Given the description of an element on the screen output the (x, y) to click on. 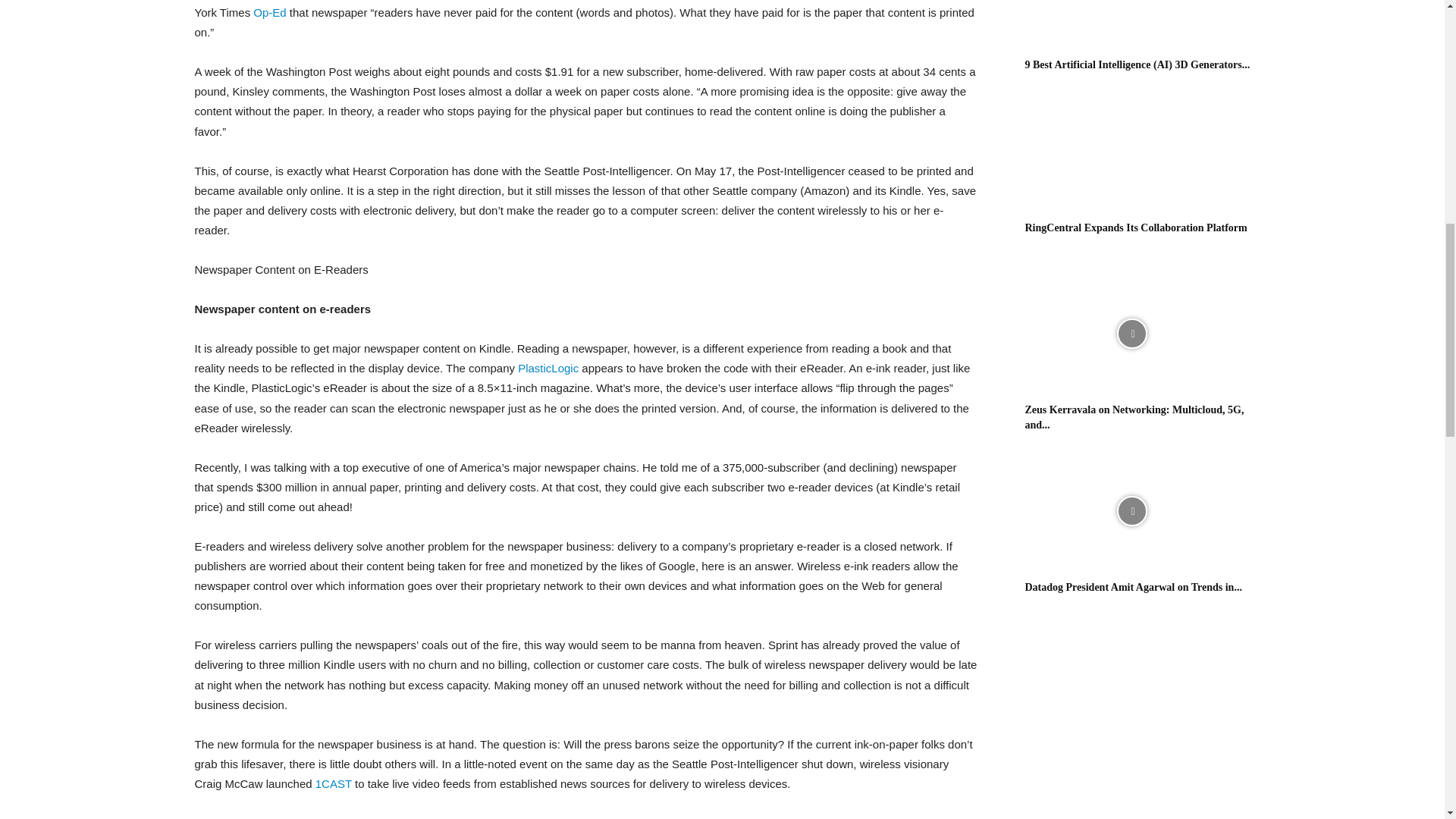
Zeus Kerravala on Networking: Multicloud, 5G, and Automation (1131, 333)
RingCentral Expands Its Collaboration Platform (1131, 151)
Zeus Kerravala on Networking: Multicloud, 5G, and Automation (1134, 417)
RingCentral Expands Its Collaboration Platform (1136, 227)
